Given the description of an element on the screen output the (x, y) to click on. 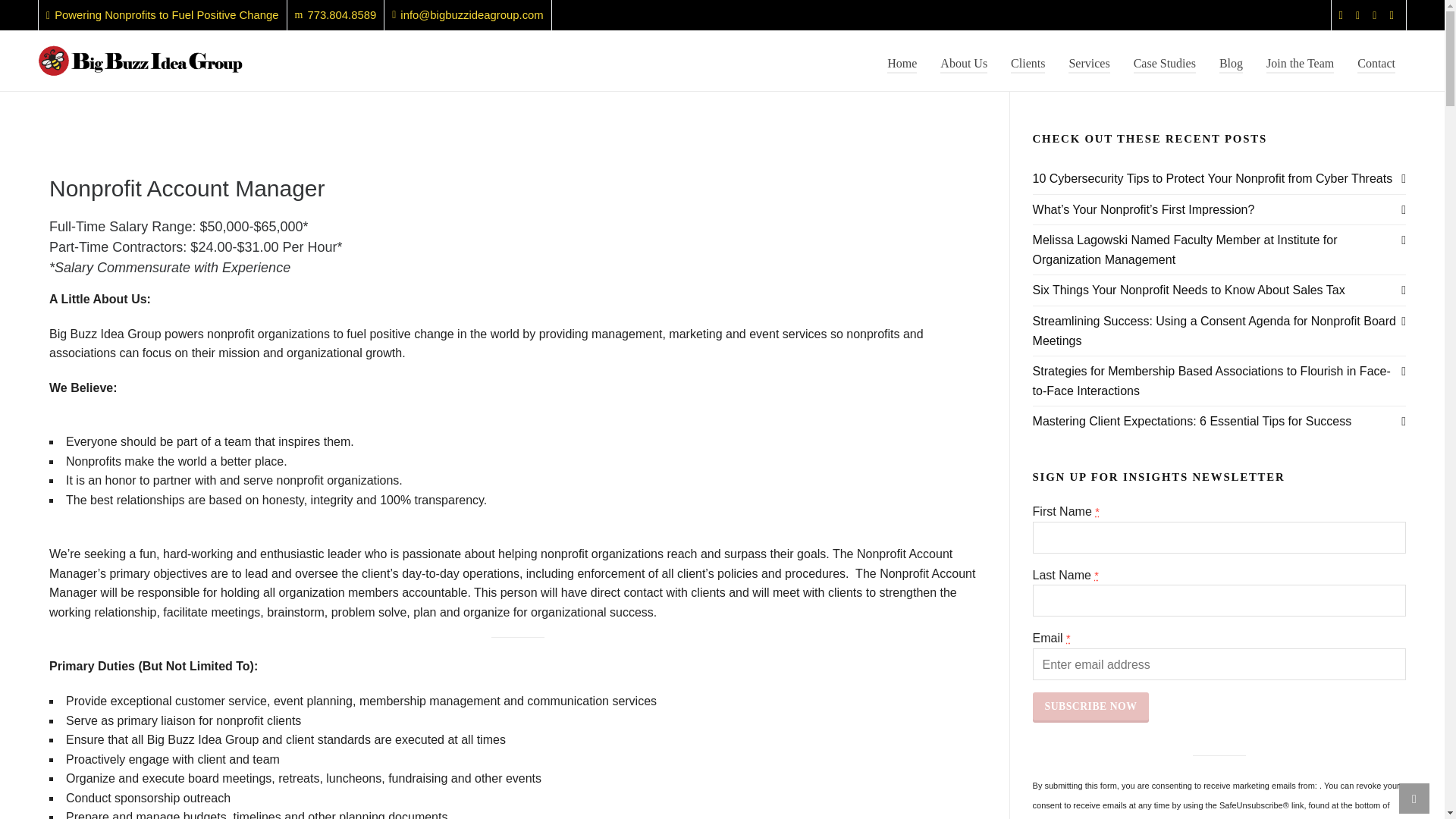
About Us (963, 61)
Subscribe Now (1091, 706)
Clients (1027, 61)
Case Studies (1164, 61)
Services (1089, 61)
Subscribe Now (1091, 706)
